Given the description of an element on the screen output the (x, y) to click on. 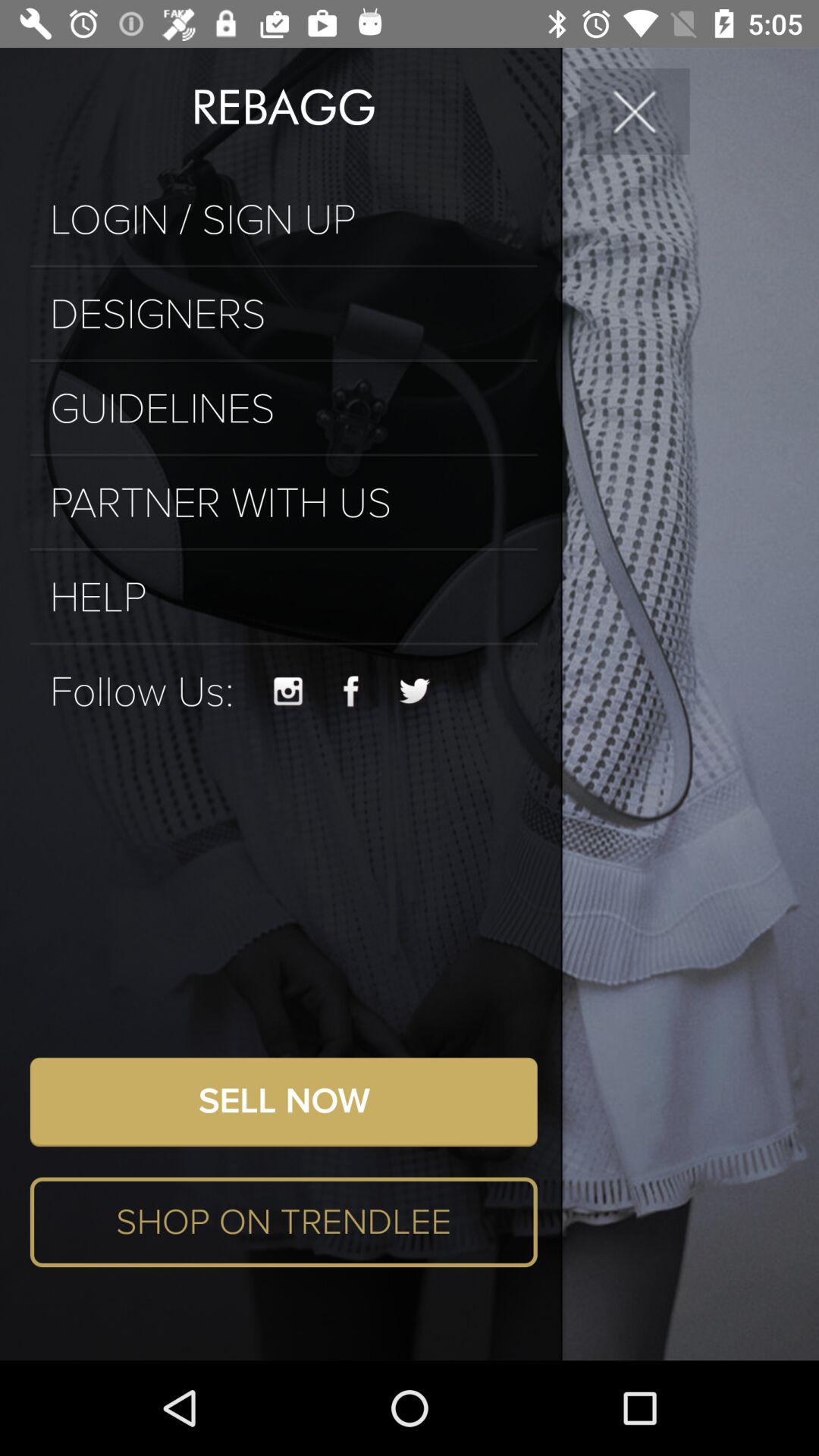
follow on facebook (351, 691)
